Given the description of an element on the screen output the (x, y) to click on. 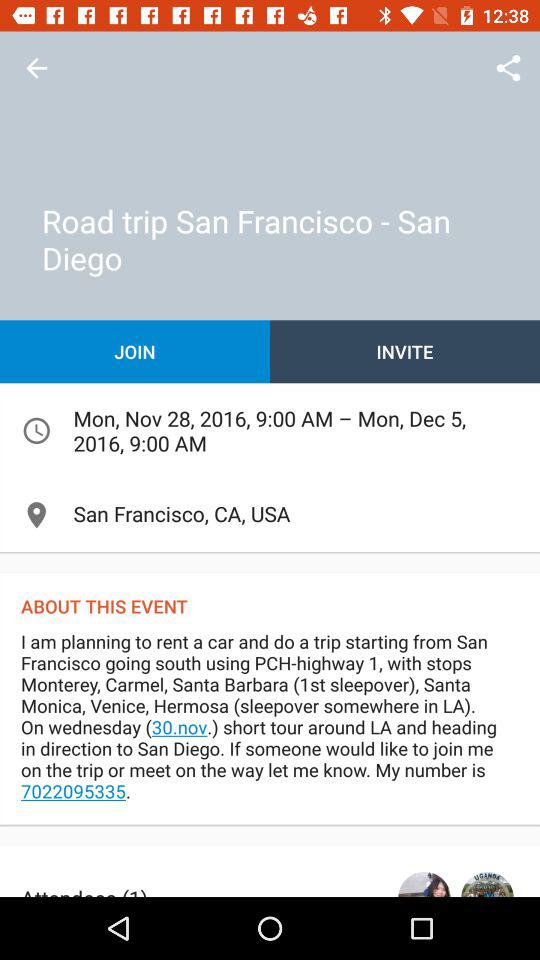
choose the item to the left of the invite (135, 351)
